Given the description of an element on the screen output the (x, y) to click on. 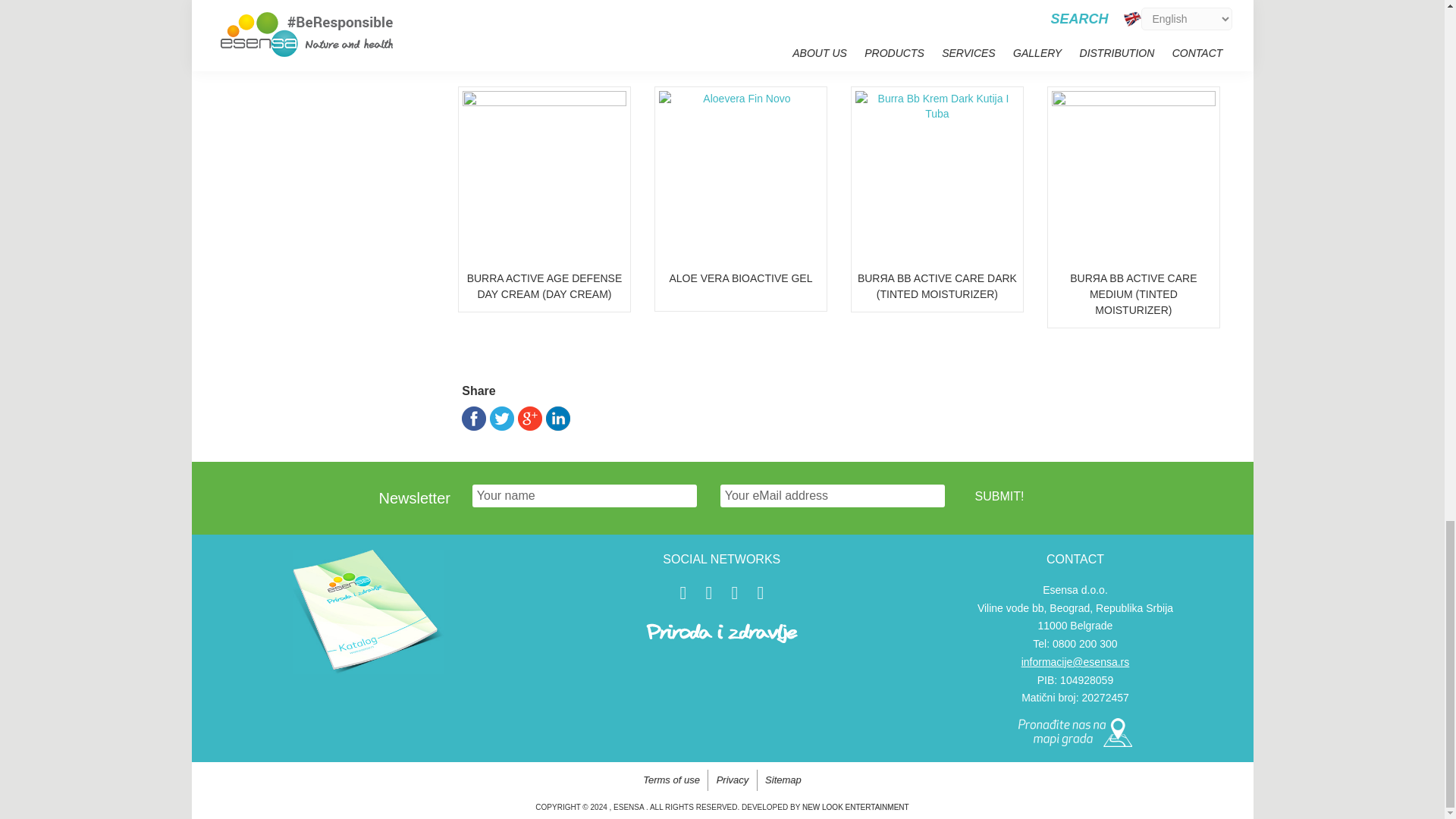
Submit! (999, 496)
Twitter (501, 418)
Facebook (473, 418)
LinkedIn (558, 418)
Your name (584, 495)
Your eMail address (832, 495)
